Given the description of an element on the screen output the (x, y) to click on. 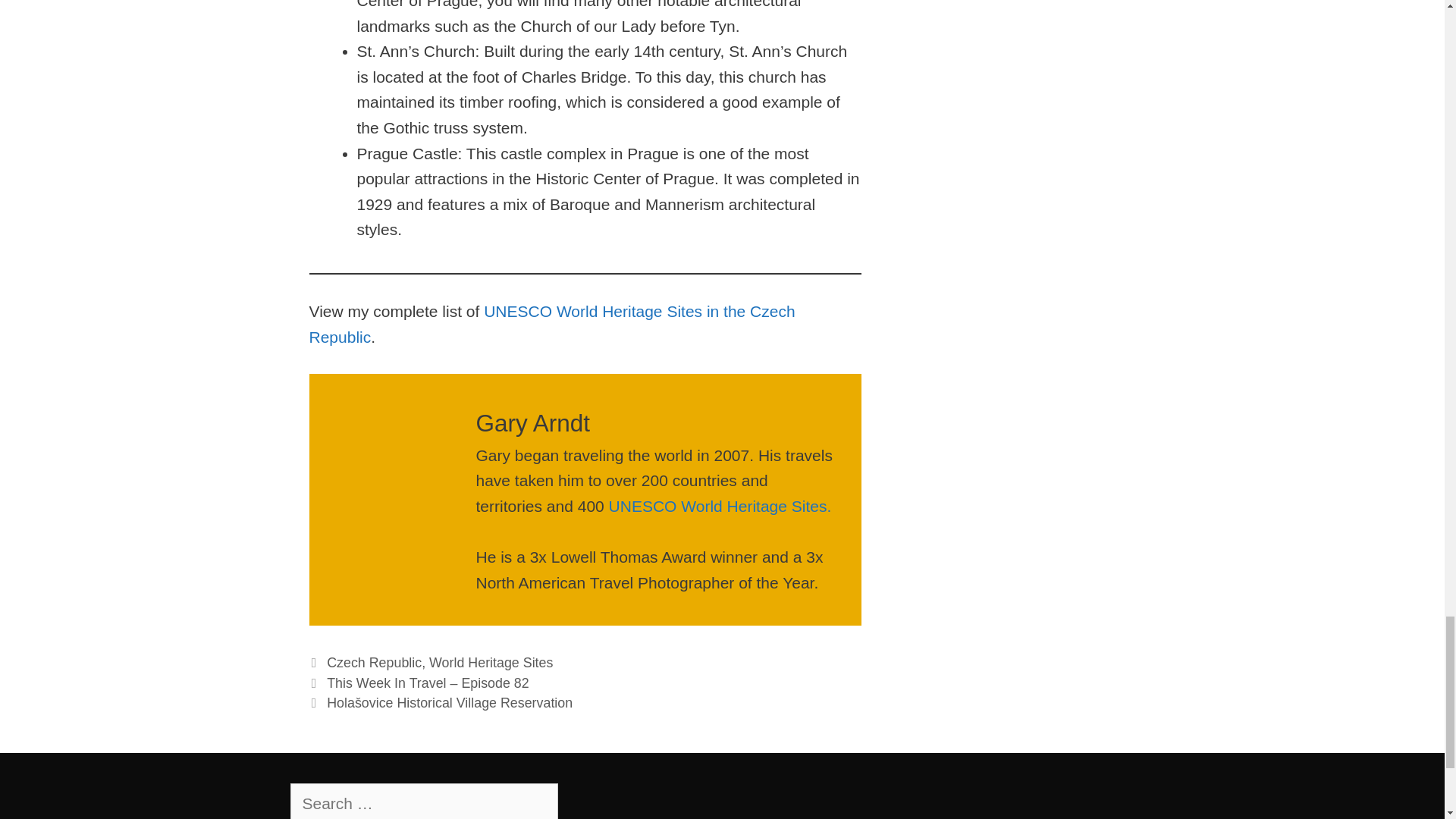
UNESCO World Heritage Sites in the Czech Republic (551, 323)
Search for: (423, 800)
UNESCO World Heritage Sites. (719, 506)
Czech Republic (374, 662)
World Heritage Sites (491, 662)
